Given the description of an element on the screen output the (x, y) to click on. 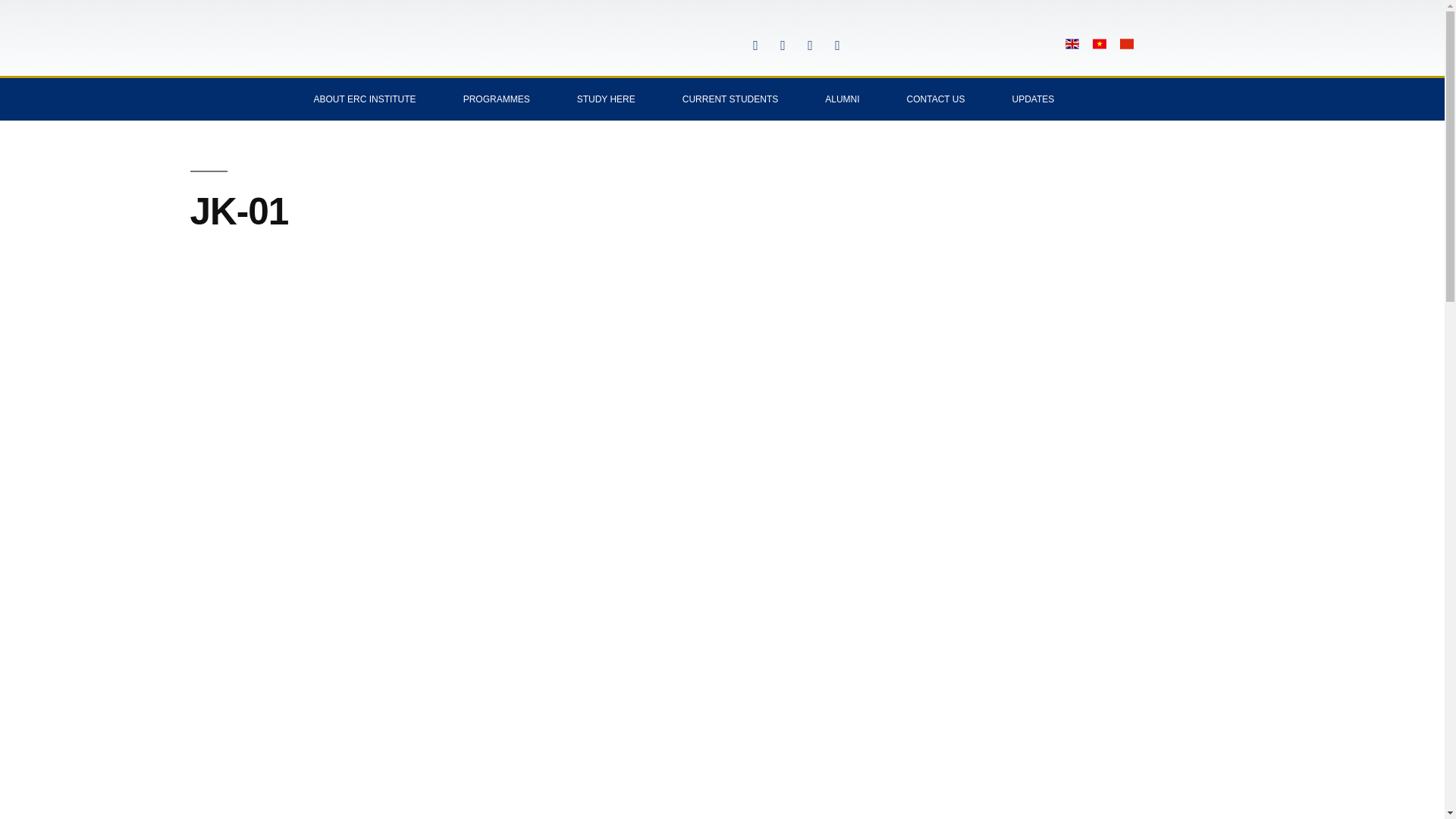
ALUMNI (842, 98)
STUDY HERE (606, 98)
CURRENT STUDENTS (730, 98)
CONTACT US (935, 98)
UPDATES (1032, 98)
ABOUT ERC INSTITUTE (364, 98)
PROGRAMMES (496, 98)
